Given the description of an element on the screen output the (x, y) to click on. 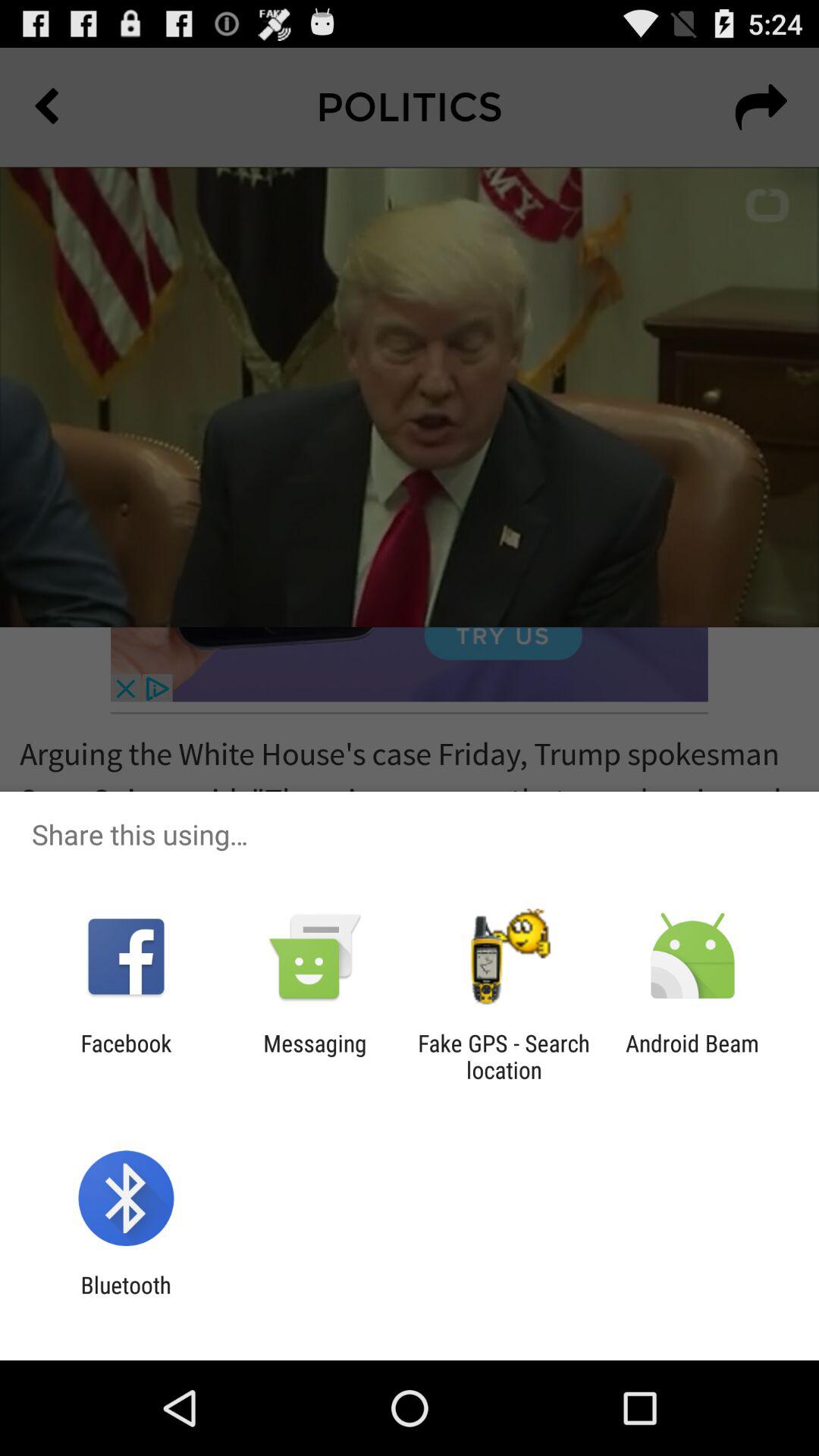
press item to the right of the messaging icon (503, 1056)
